Given the description of an element on the screen output the (x, y) to click on. 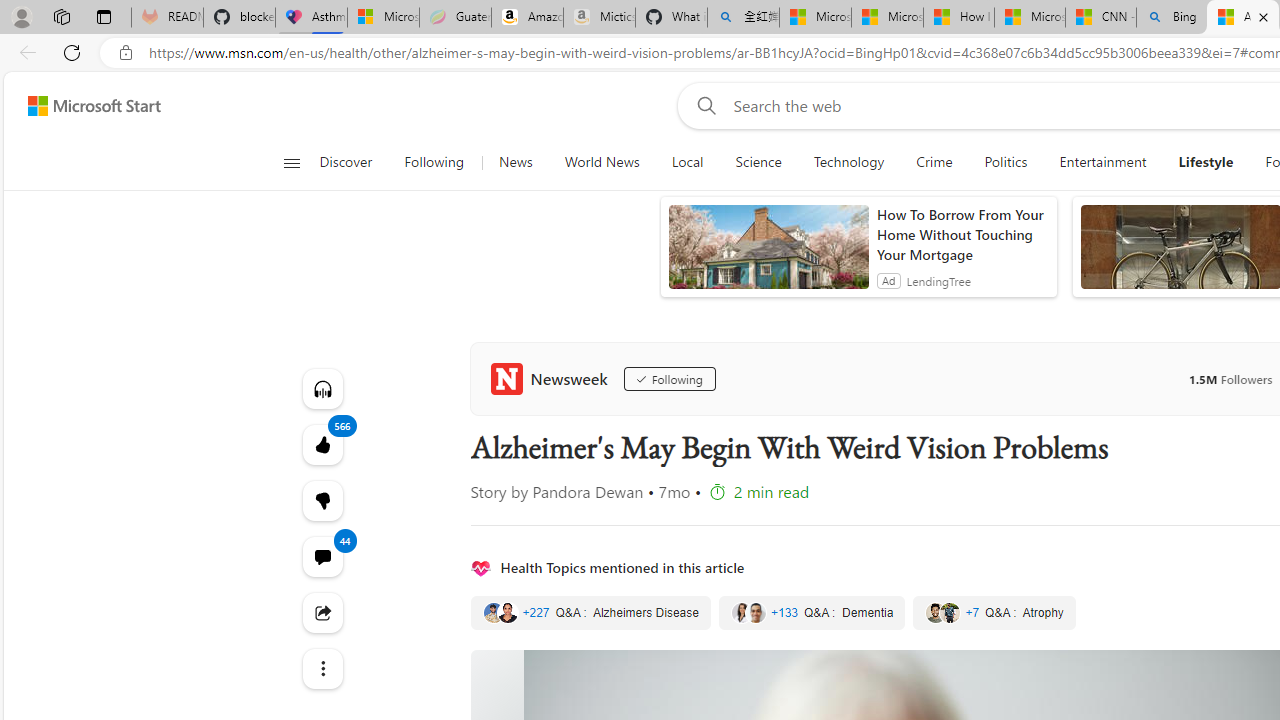
Following (433, 162)
Crime (933, 162)
Discover (353, 162)
Atrophy (994, 613)
World News (602, 162)
Entertainment (1102, 162)
Open navigation menu (291, 162)
